Given the description of an element on the screen output the (x, y) to click on. 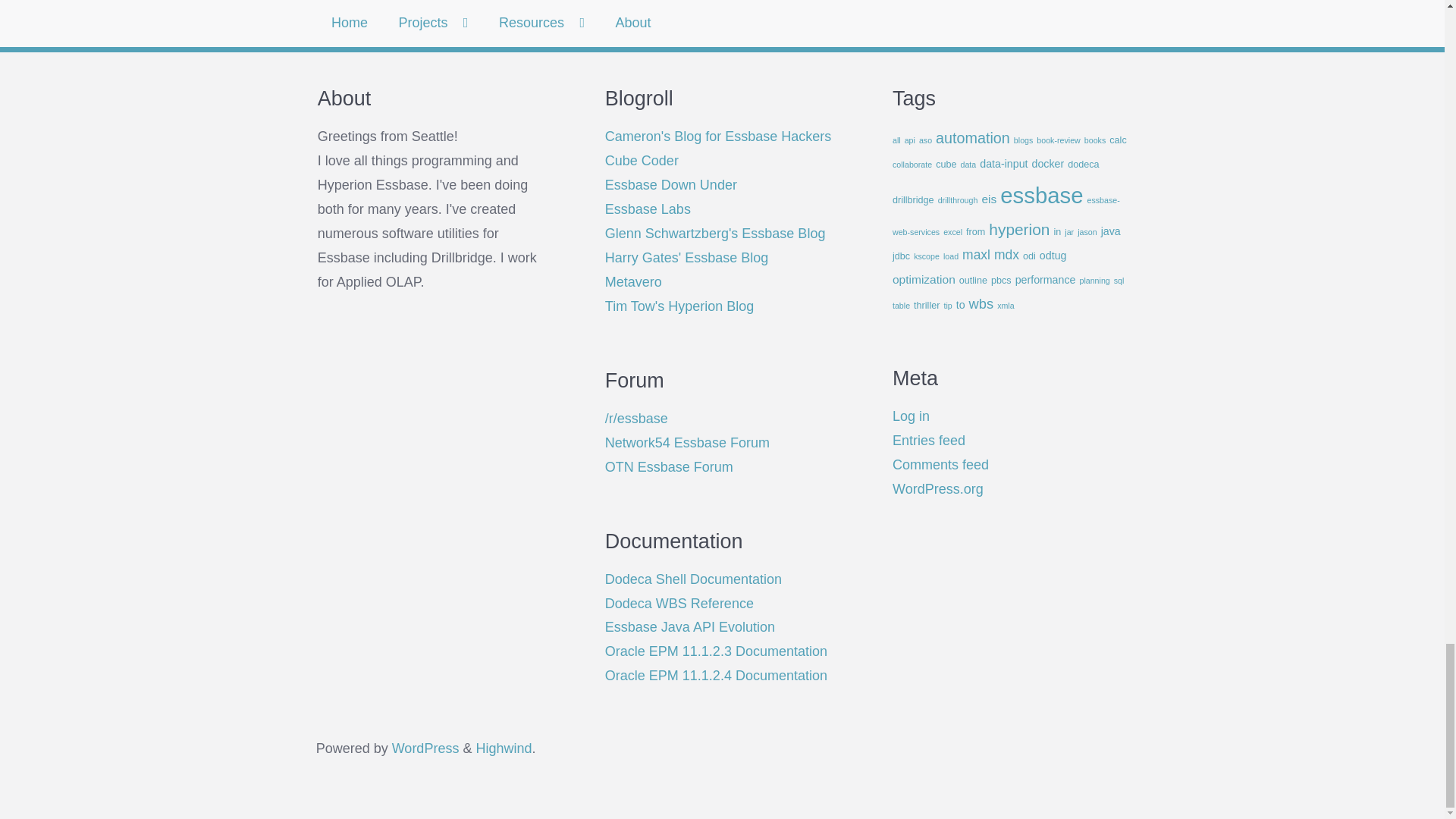
Oracle Essbase Forum (669, 467)
Dodeca Workbook Script Reference (679, 603)
Documentation for Oracle EPM version 11.1.2.4 (716, 675)
WordPress.org (425, 748)
Cameron Lackpour (718, 136)
The Essbase Subreddit! (636, 418)
Dodeca Shell Getting Started Guide (693, 579)
